Given the description of an element on the screen output the (x, y) to click on. 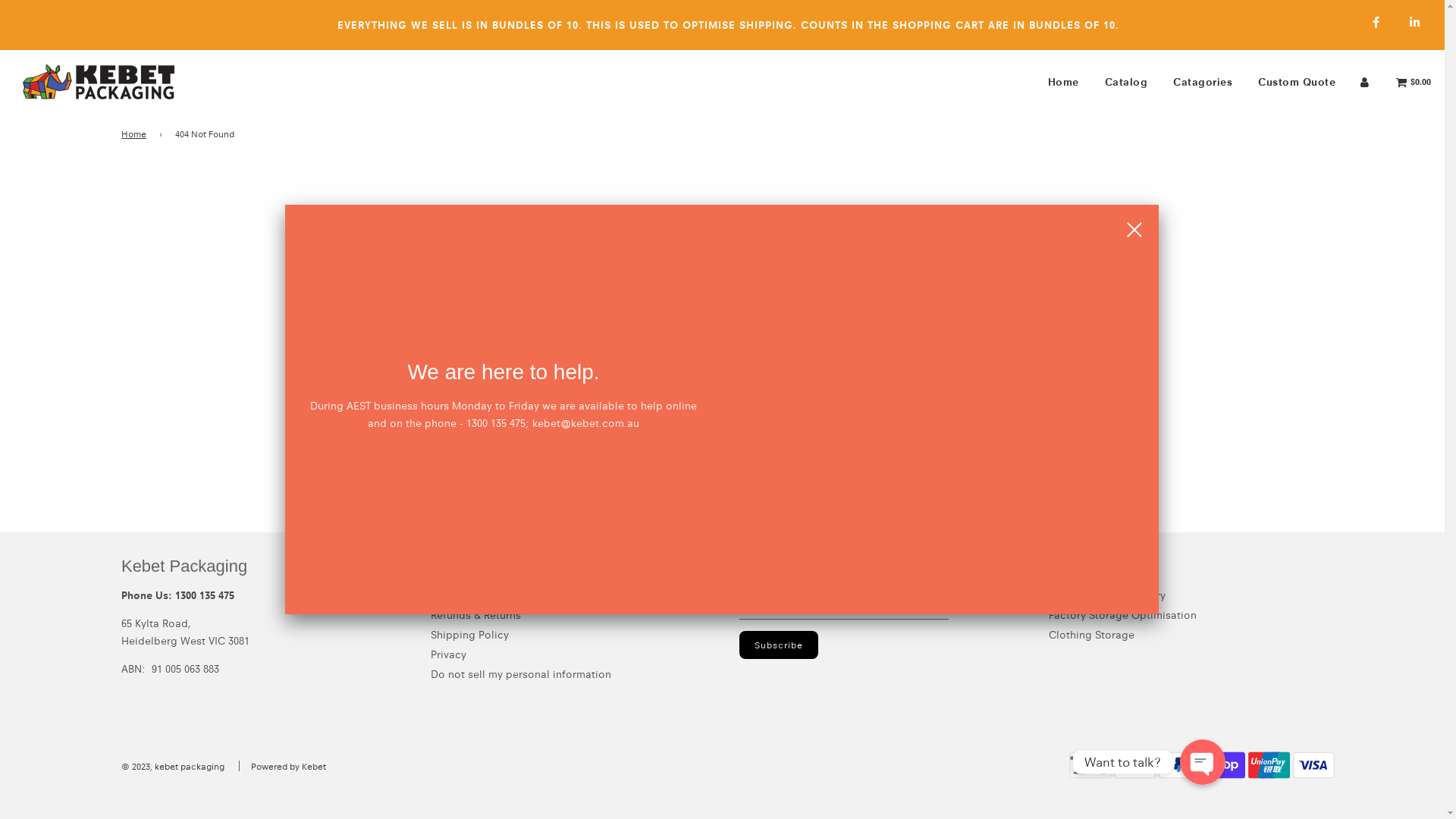
Do not sell my personal information Element type: text (520, 673)
Factory Storage Optimisation Element type: text (1121, 614)
Refunds & Returns Element type: text (475, 614)
Catalog Element type: text (1126, 81)
Clothing Storage Element type: text (1090, 634)
here Element type: text (785, 247)
Subscribe Element type: text (778, 644)
Custom Quote Element type: text (1296, 81)
Powered by Kebet Element type: text (288, 765)
Home Element type: text (1062, 81)
Log in Element type: hover (1364, 82)
Home Element type: text (136, 133)
Catagories Element type: text (1202, 81)
Open Chaty Channels Element type: text (1202, 761)
Privacy Element type: text (448, 654)
$0.00 Element type: text (1413, 82)
Shipping Policy Element type: text (469, 634)
Cellar Door and Winery Element type: text (1106, 595)
Terms of Service Element type: text (470, 595)
